Given the description of an element on the screen output the (x, y) to click on. 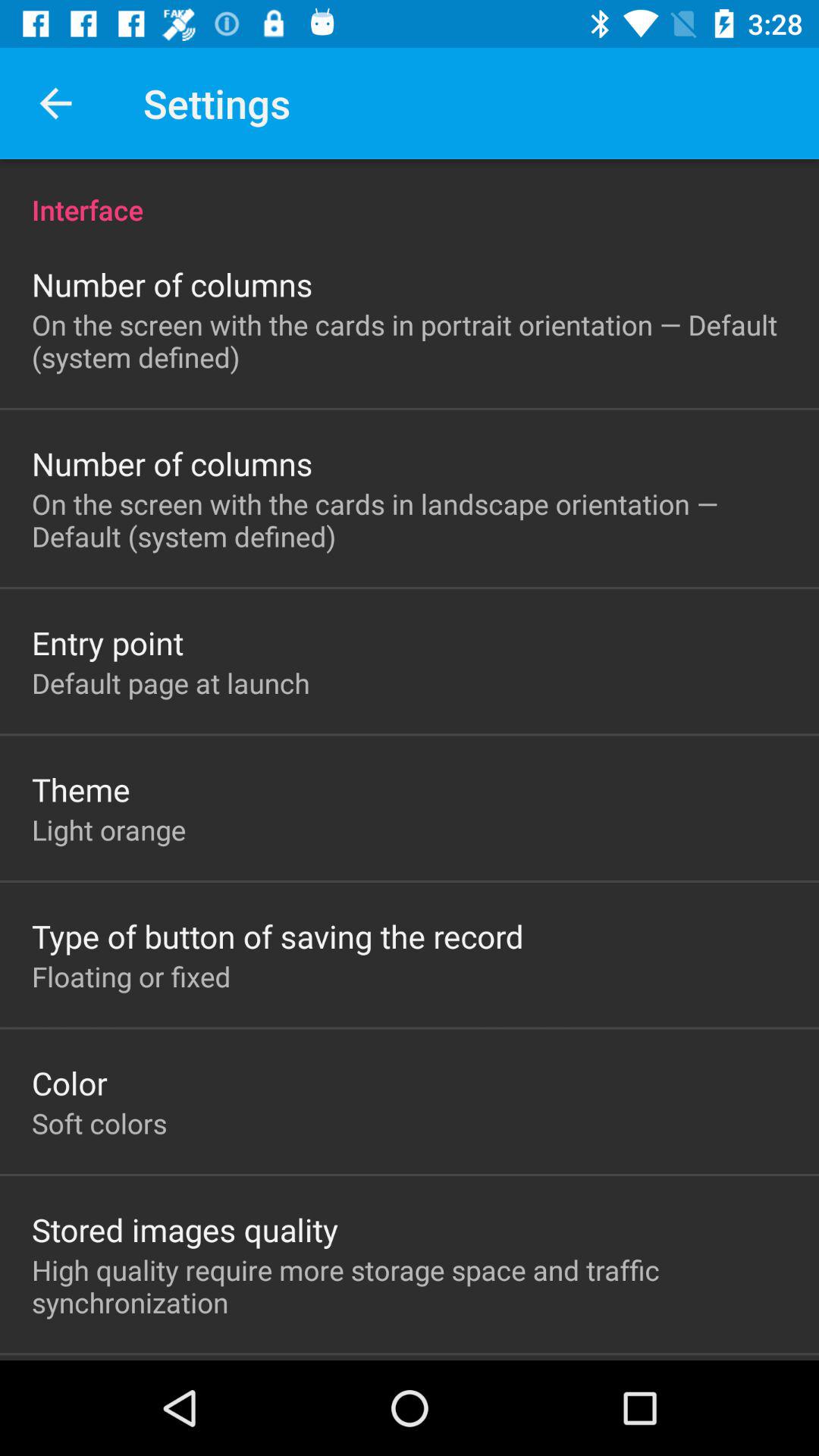
click the color item (69, 1082)
